Given the description of an element on the screen output the (x, y) to click on. 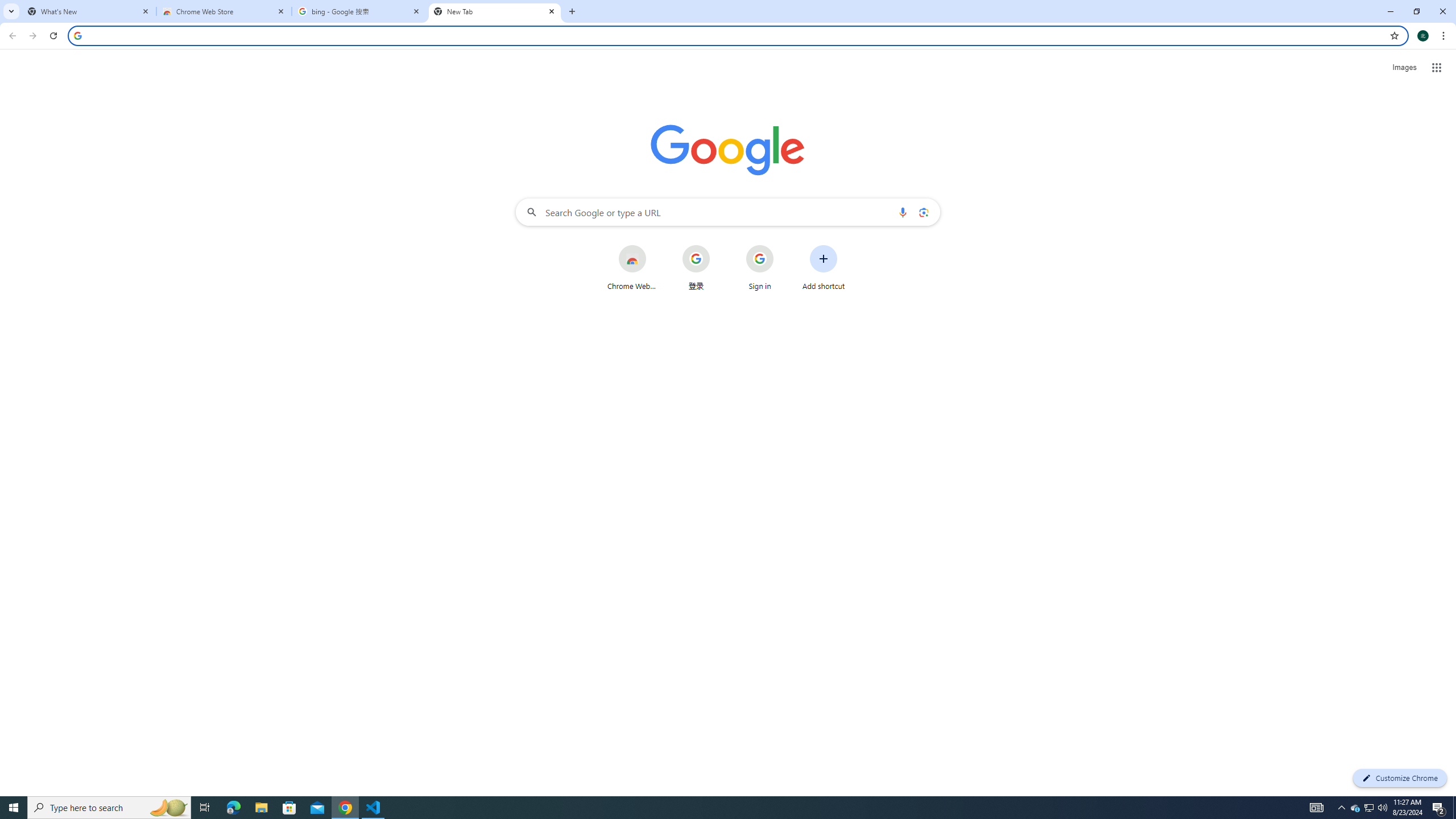
Lines (Stylish) (826, 91)
Minimalist (887, 91)
Black & White (Numbered) (458, 91)
Document (89, 91)
Fonts (1113, 92)
